Given the description of an element on the screen output the (x, y) to click on. 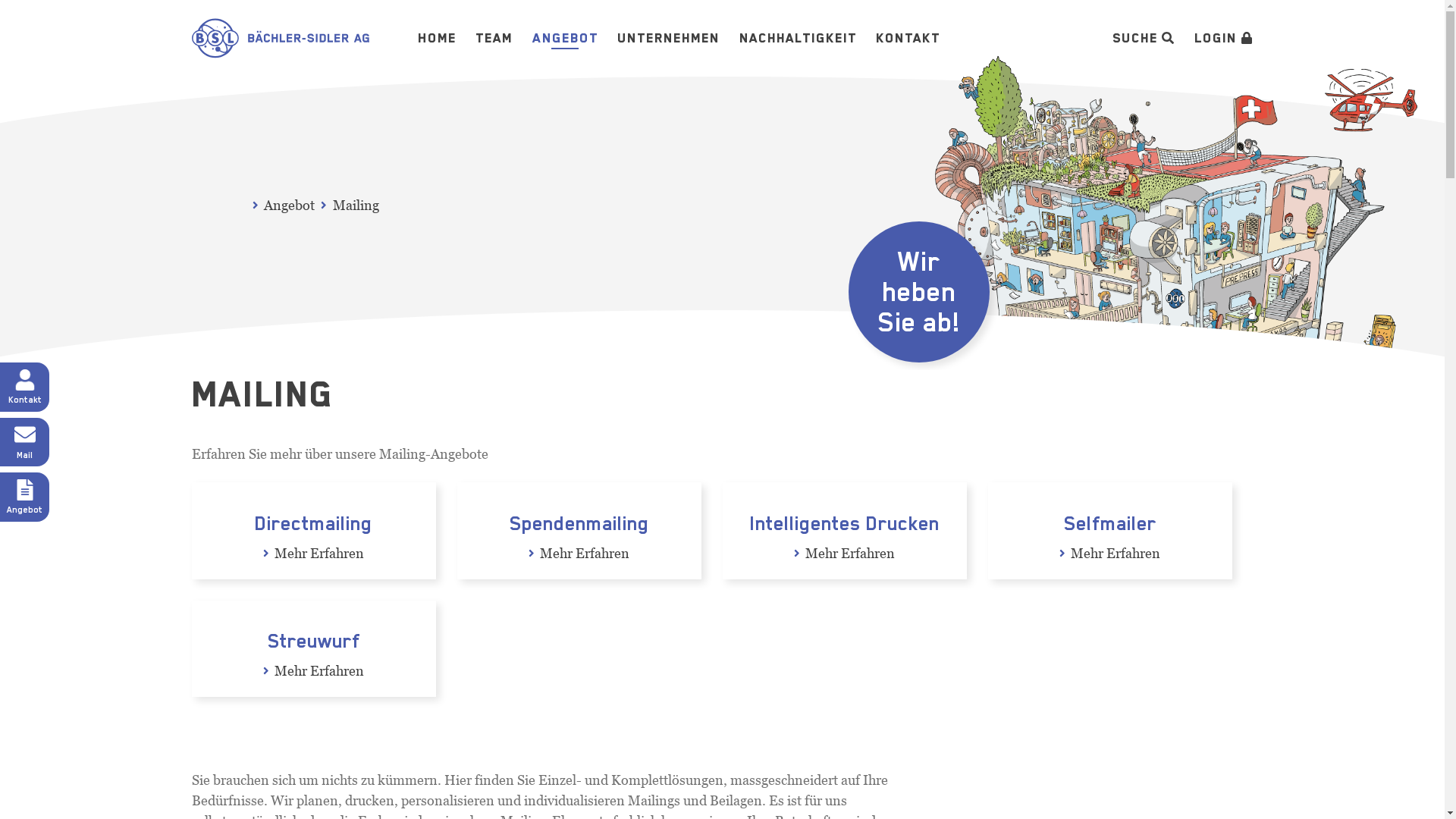
Mailing Element type: text (355, 204)
Nachhaltigkeit Element type: text (797, 37)
Wir heben Sie ab! Element type: text (918, 291)
Mehr Erfahren Element type: text (319, 670)
Streuwurf Element type: text (312, 640)
Angebot Element type: text (24, 496)
Angebot Element type: text (565, 37)
Mail Element type: text (24, 441)
Home Element type: text (436, 37)
Mehr Erfahren Element type: text (584, 552)
Angebot Element type: text (288, 204)
Login Element type: text (1214, 37)
Mehr Erfahren Element type: text (849, 552)
Intelligentes Drucken Element type: text (843, 523)
Directmailing Element type: text (313, 523)
Spendenmailing Element type: text (579, 523)
Unternehmen Element type: text (668, 37)
Suche Element type: text (1134, 37)
Team Element type: text (493, 37)
Kontakt Element type: text (907, 37)
Kontakt Element type: text (24, 386)
Mehr Erfahren Element type: text (319, 552)
Mehr Erfahren Element type: text (1115, 552)
Selfmailer Element type: text (1109, 523)
